Given the description of an element on the screen output the (x, y) to click on. 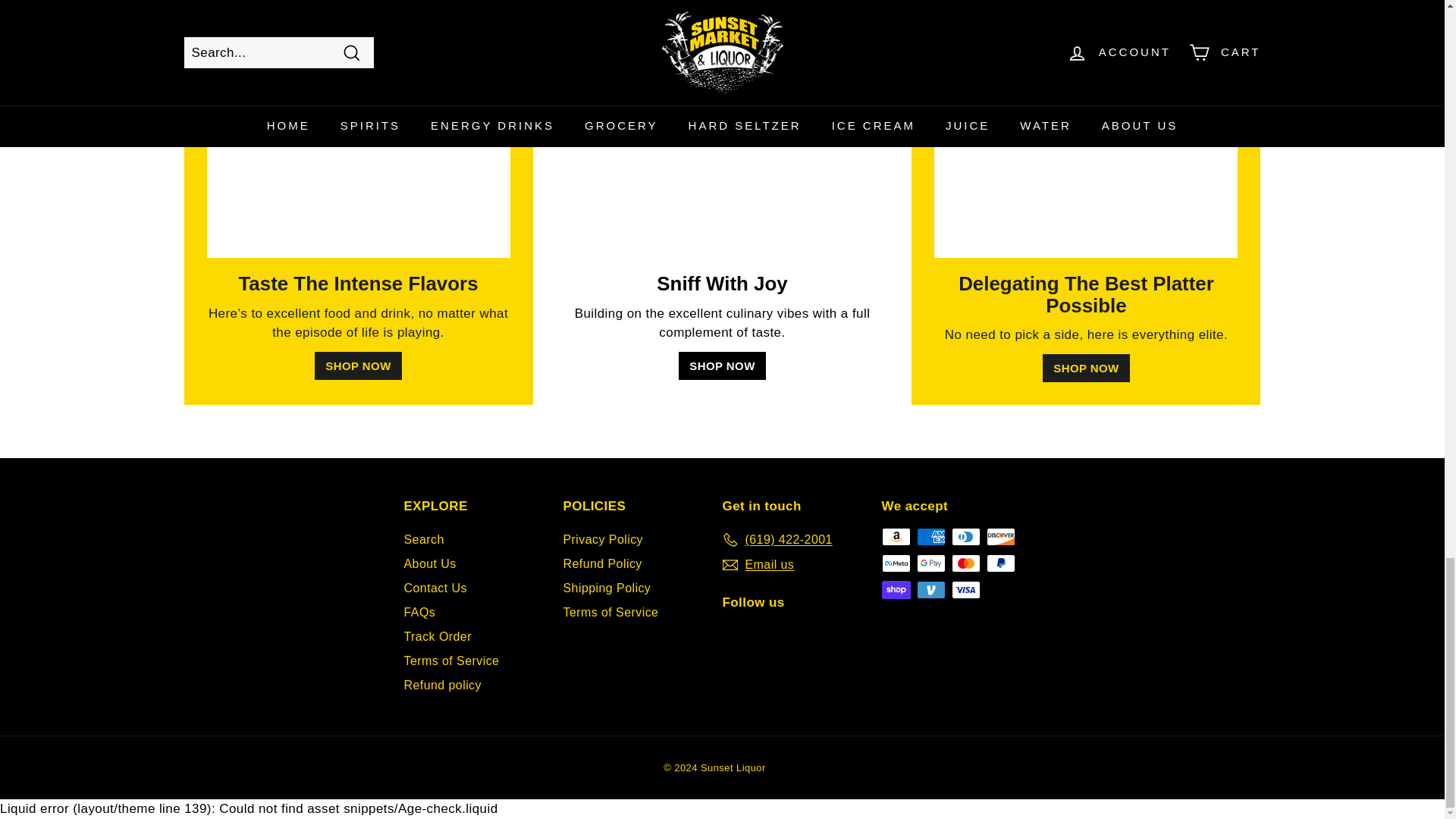
PayPal (999, 563)
Shop Pay (895, 589)
Google Pay (929, 563)
Amazon (895, 536)
American Express (929, 536)
Meta Pay (895, 563)
Mastercard (964, 563)
Diners Club (964, 536)
Venmo (929, 589)
Discover (999, 536)
